Given the description of an element on the screen output the (x, y) to click on. 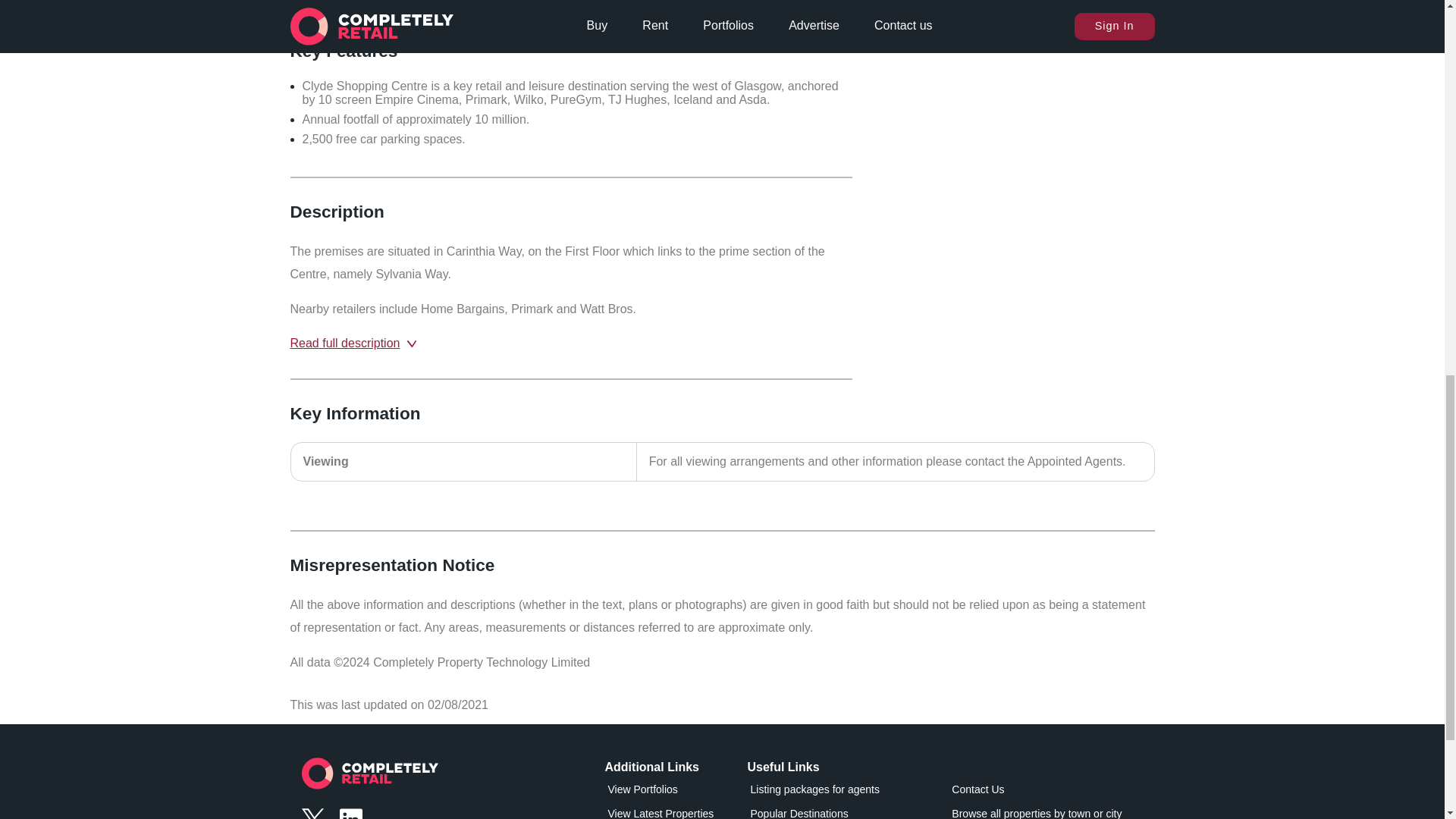
View Portfolios (673, 791)
View Latest Properties (673, 813)
Contact Us (1036, 791)
Popular Destinations (833, 813)
Read full description (365, 342)
Browse all properties by town or city (1036, 813)
Contact Us (1036, 791)
Listing packages for agents (833, 791)
View Latest Properties (673, 813)
Completely Retail homepage (369, 777)
View Portfolios (673, 791)
Browse all properties by town or city (1036, 813)
Listing packages for agents (833, 791)
Popular Destinations (833, 813)
